Given the description of an element on the screen output the (x, y) to click on. 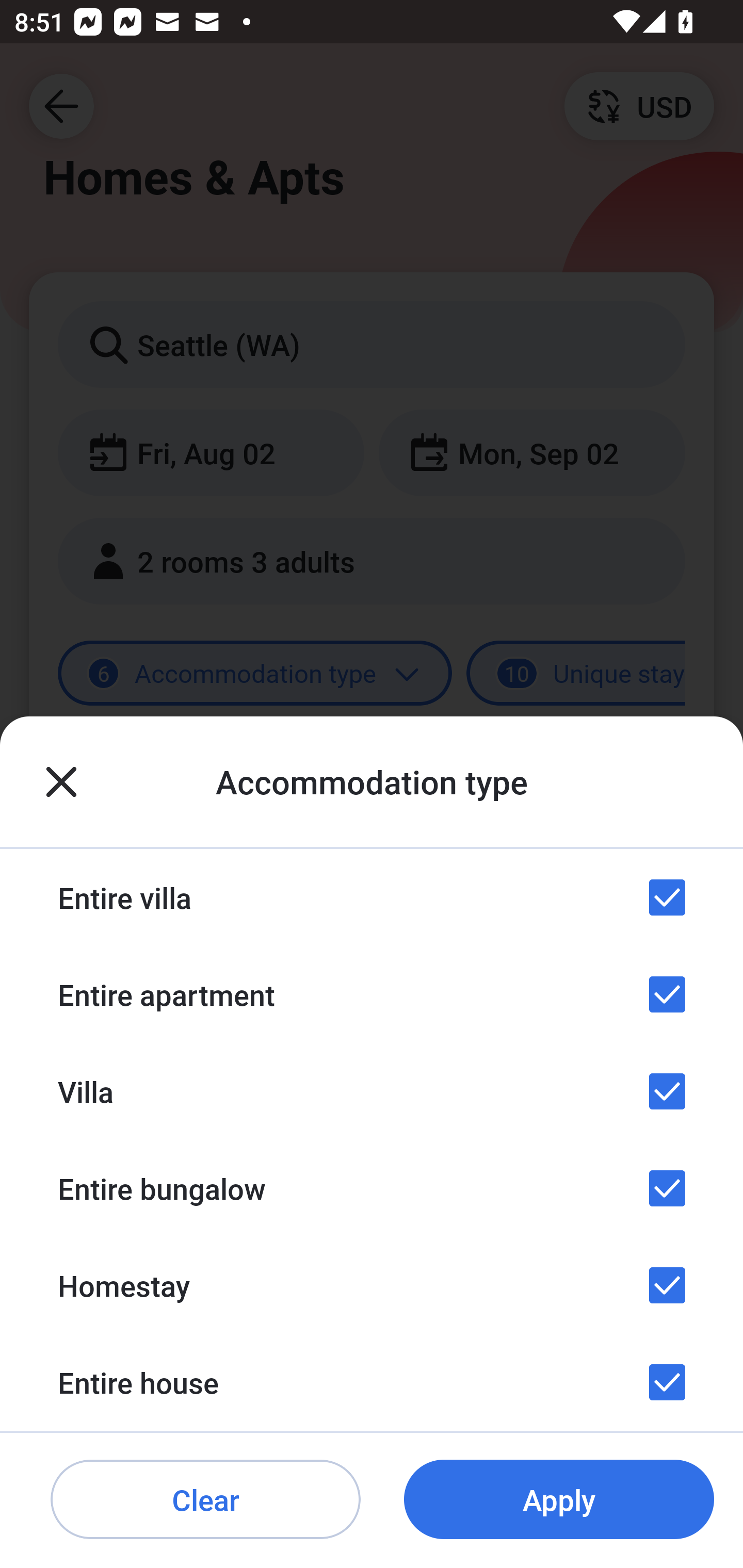
Entire villa (371, 897)
Entire apartment (371, 994)
Villa (371, 1091)
Entire bungalow (371, 1188)
Homestay (371, 1284)
Entire house (371, 1382)
Clear (205, 1499)
Apply (559, 1499)
